Given the description of an element on the screen output the (x, y) to click on. 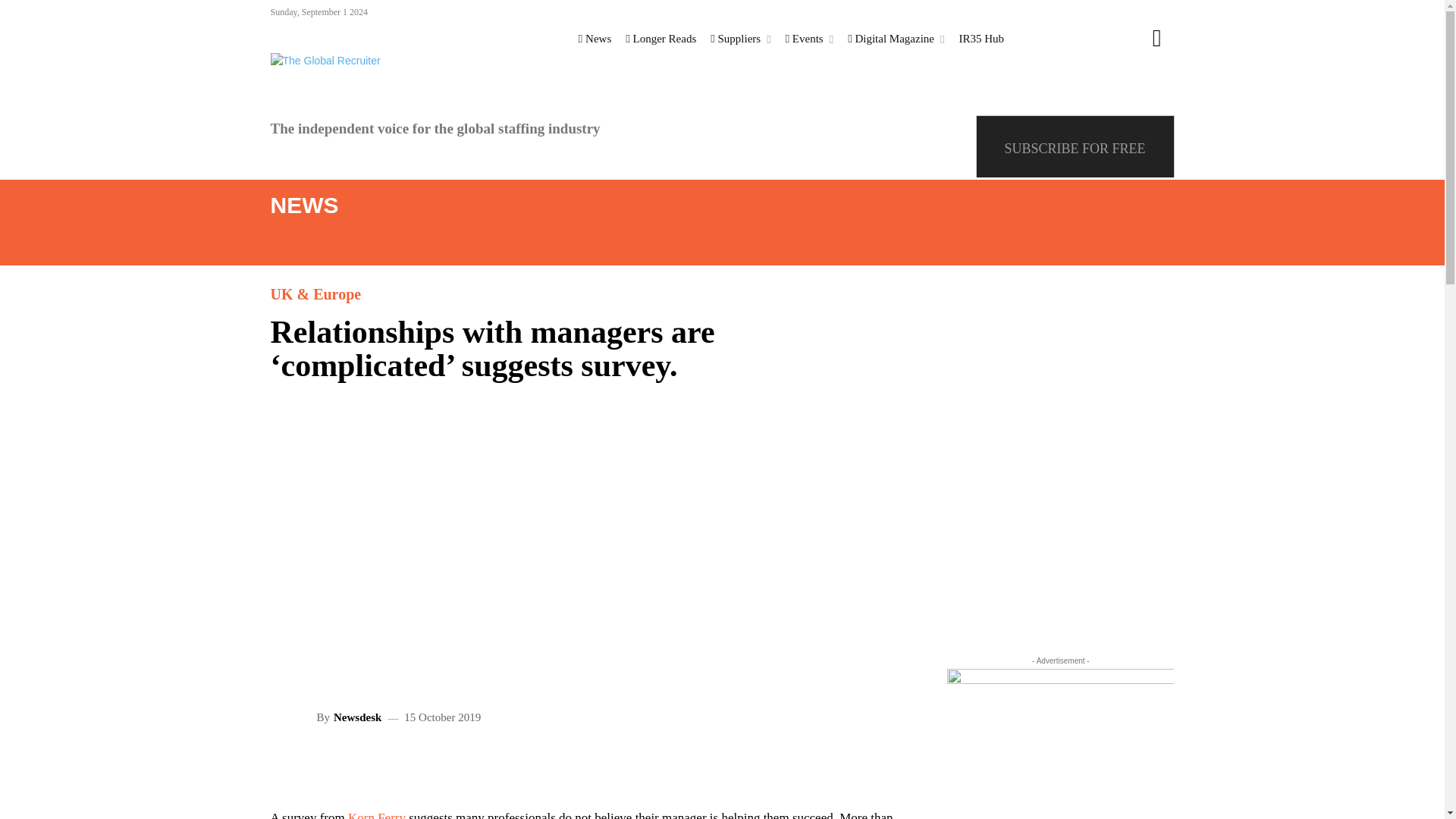
Suppliers (740, 37)
Digital Magazine (895, 37)
Longer Reads (660, 37)
The Global Recruiter (338, 60)
Subscribe for FREE (1074, 146)
Events (810, 37)
The Global Recruiter (324, 60)
News (594, 37)
